Given the description of an element on the screen output the (x, y) to click on. 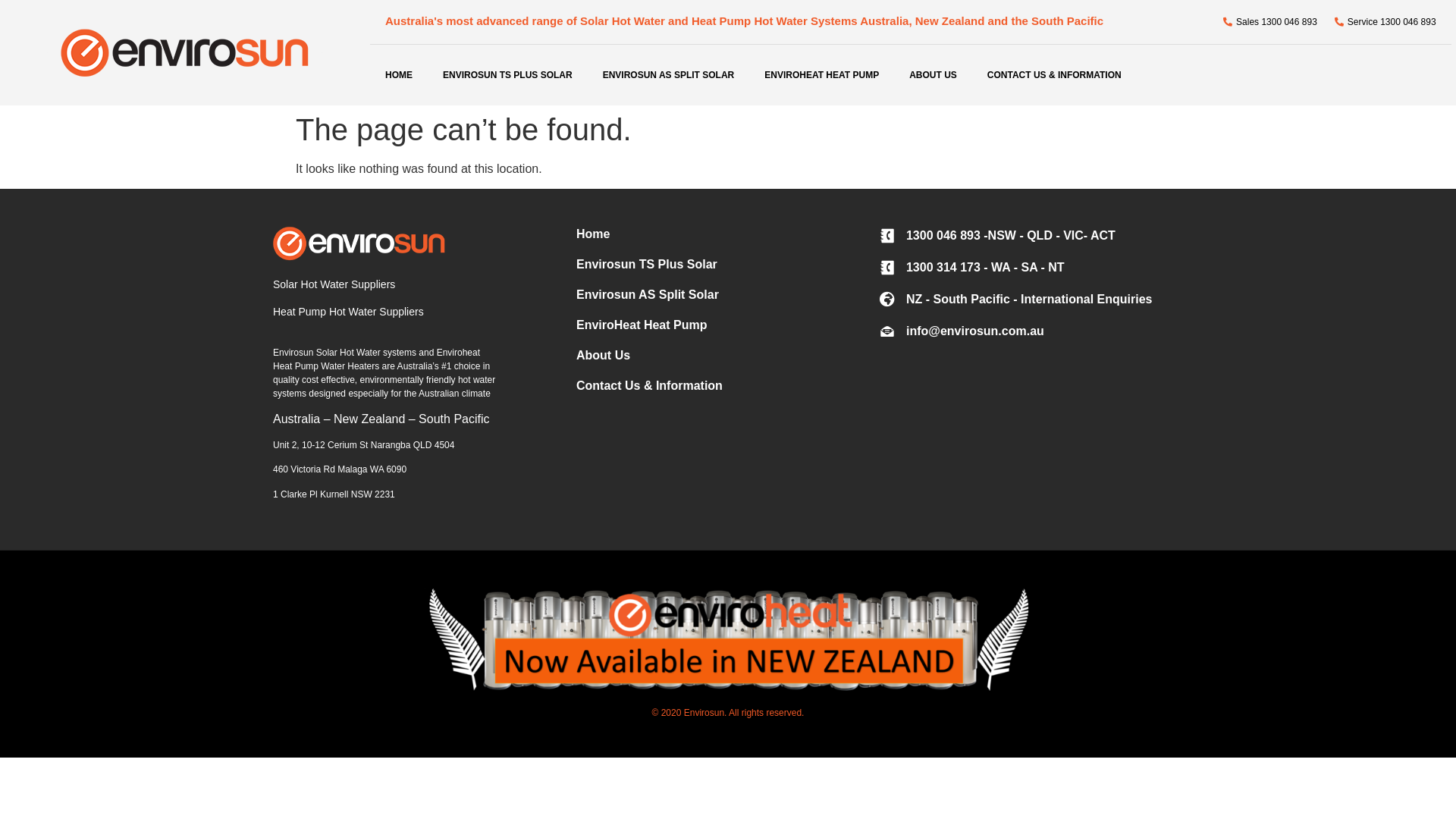
CONTACT US & INFORMATION Element type: text (1054, 74)
ENVIROSUN AS SPLIT SOLAR Element type: text (668, 74)
NZ - South Pacific - International Enquiries Element type: text (1031, 299)
Home Element type: text (727, 233)
ABOUT US Element type: text (933, 74)
EnviroHeat Heat Pump Element type: text (727, 324)
HOME Element type: text (398, 74)
Contact Us & Information Element type: text (727, 385)
Sales 1300 046 893 Element type: text (1268, 21)
1300 314 173 - WA - SA - NT Element type: text (1031, 267)
1300 046 893 -NSW - QLD - VIC- ACT Element type: text (1031, 235)
New Zealand Element type: text (368, 418)
Envirosun TS Plus Solar Element type: text (727, 264)
ENVIROHEAT HEAT PUMP Element type: text (821, 74)
Envirosun AS Split Solar Element type: text (727, 294)
ENVIROSUN TS PLUS SOLAR Element type: text (507, 74)
info@envirosun.com.au Element type: text (1031, 331)
About Us Element type: text (727, 355)
